Given the description of an element on the screen output the (x, y) to click on. 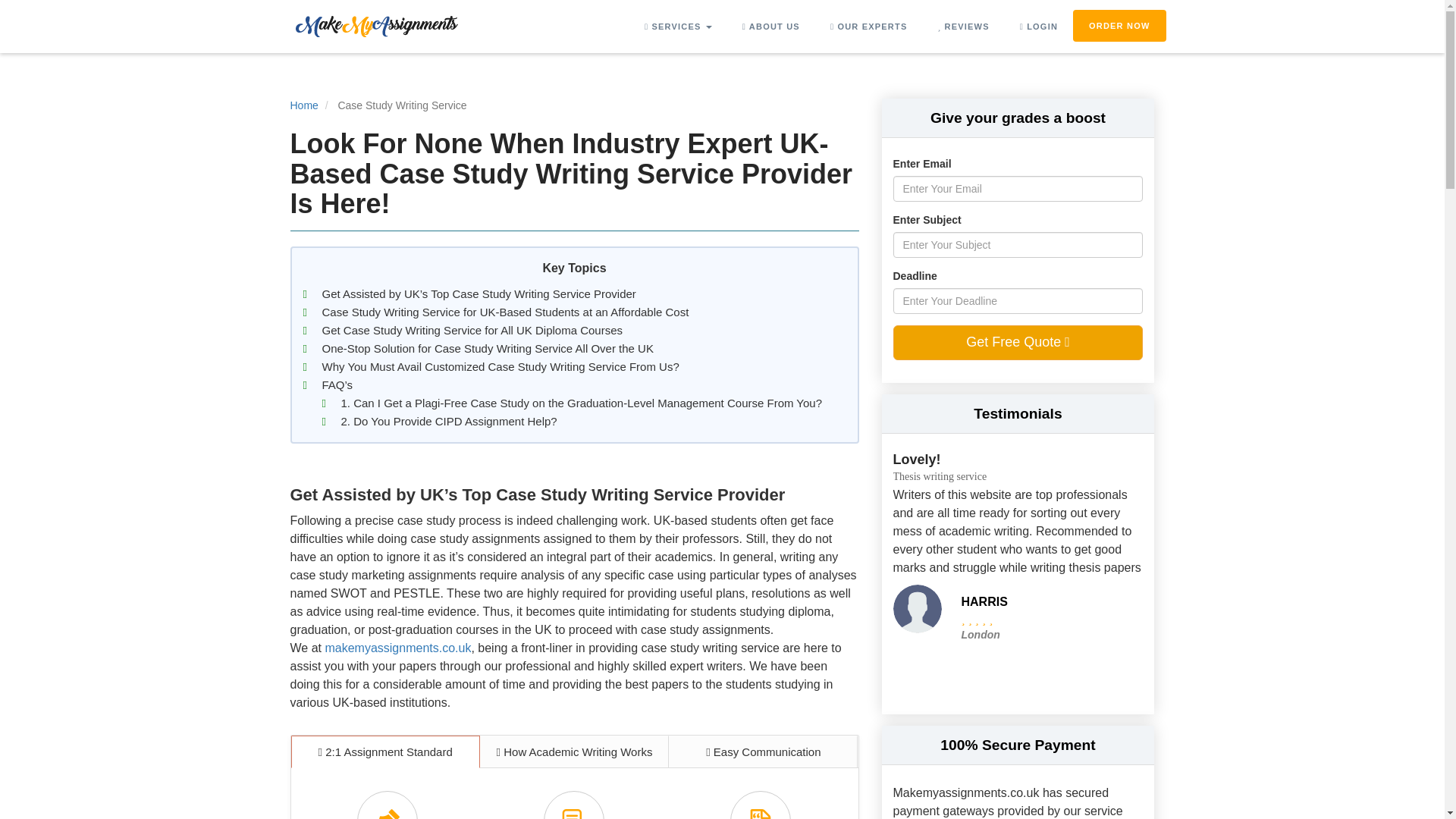
Easy Communication (762, 751)
Home (303, 105)
OUR EXPERTS (869, 26)
ABOUT US (770, 26)
How Academic Writing Works (574, 751)
Get Free Quote (1017, 342)
2. Do You Provide CIPD Assignment Help? (448, 421)
